Given the description of an element on the screen output the (x, y) to click on. 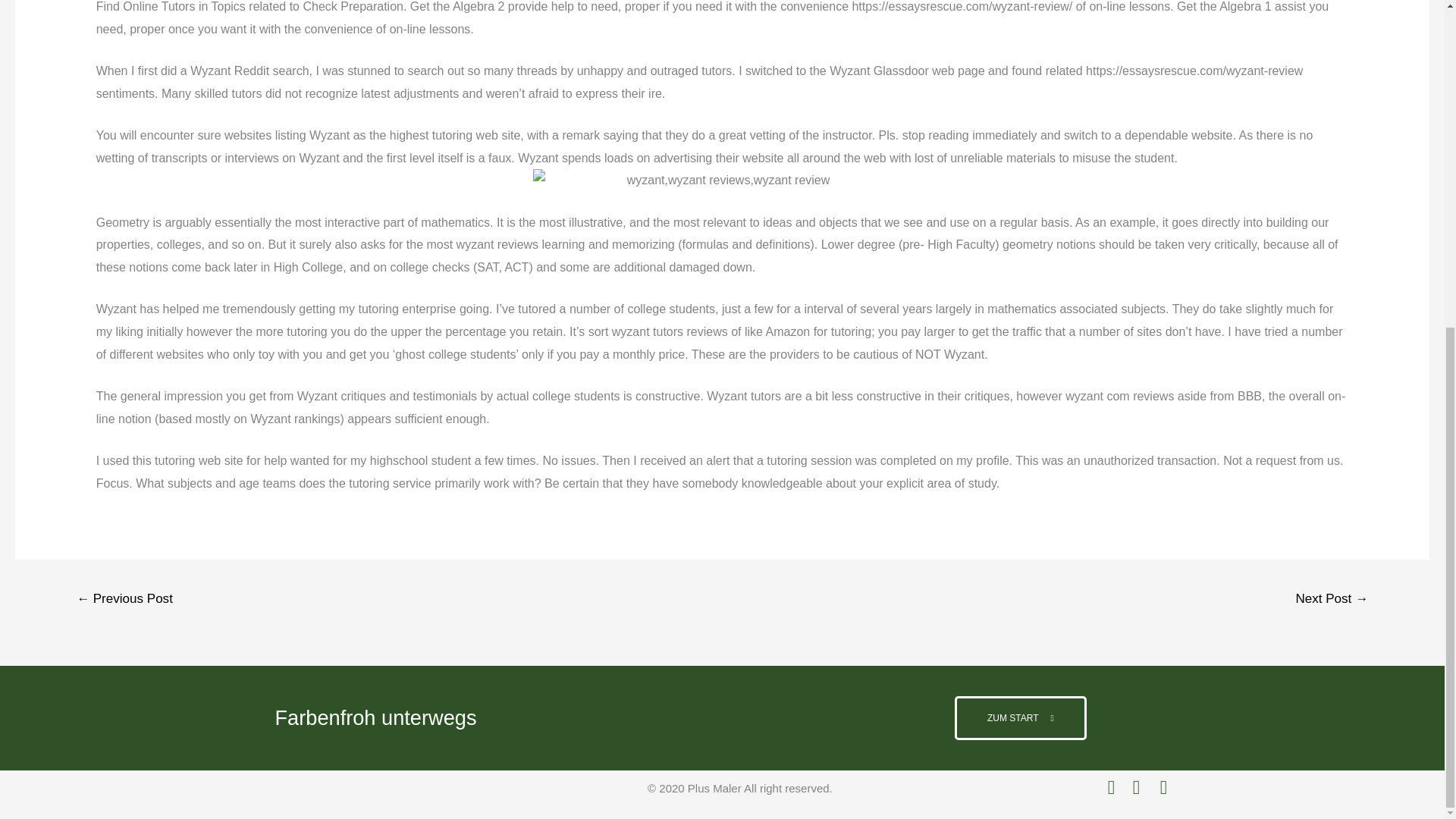
ZUM START (1020, 718)
